Given the description of an element on the screen output the (x, y) to click on. 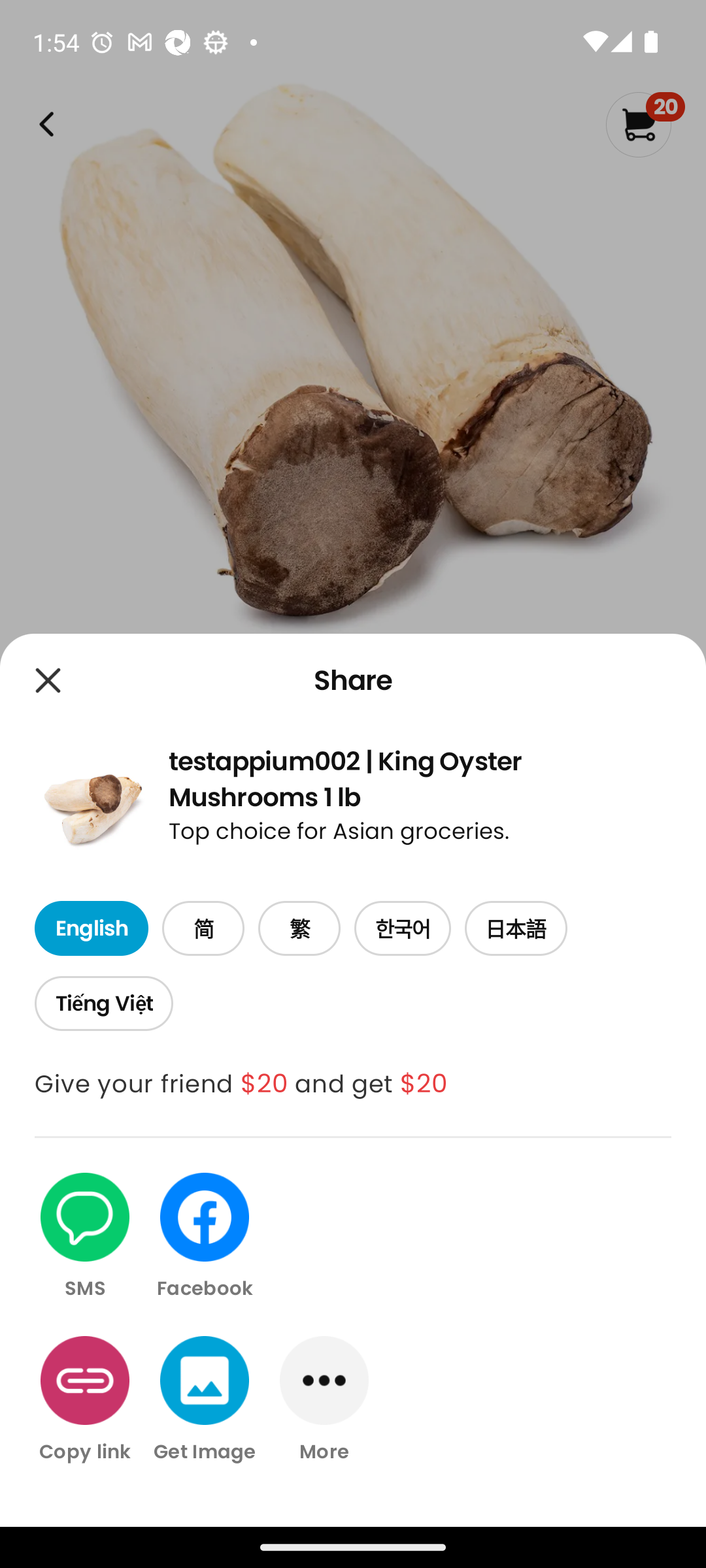
English (91, 928)
简 (203, 928)
繁 (299, 928)
한국어 (402, 928)
日本語 (515, 928)
Tiếng Việt (103, 1003)
SMS (85, 1236)
Facebook (204, 1236)
Copy link (85, 1399)
Get Image (204, 1399)
More (324, 1399)
